Given the description of an element on the screen output the (x, y) to click on. 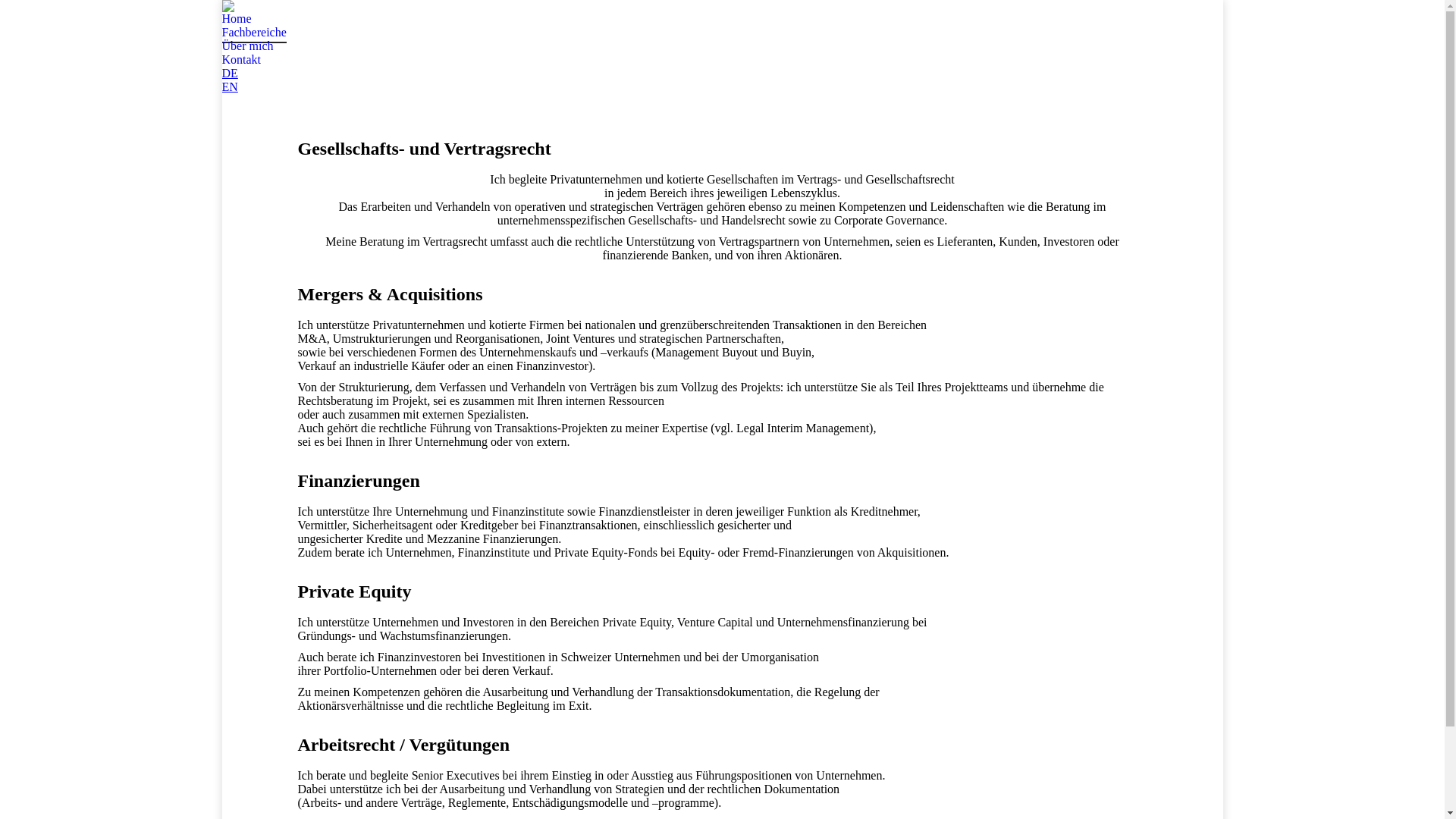
DE Element type: text (229, 72)
Fachbereiche Element type: text (253, 32)
Kontakt Element type: text (240, 59)
Home Element type: text (236, 18)
EN Element type: text (229, 86)
